Given the description of an element on the screen output the (x, y) to click on. 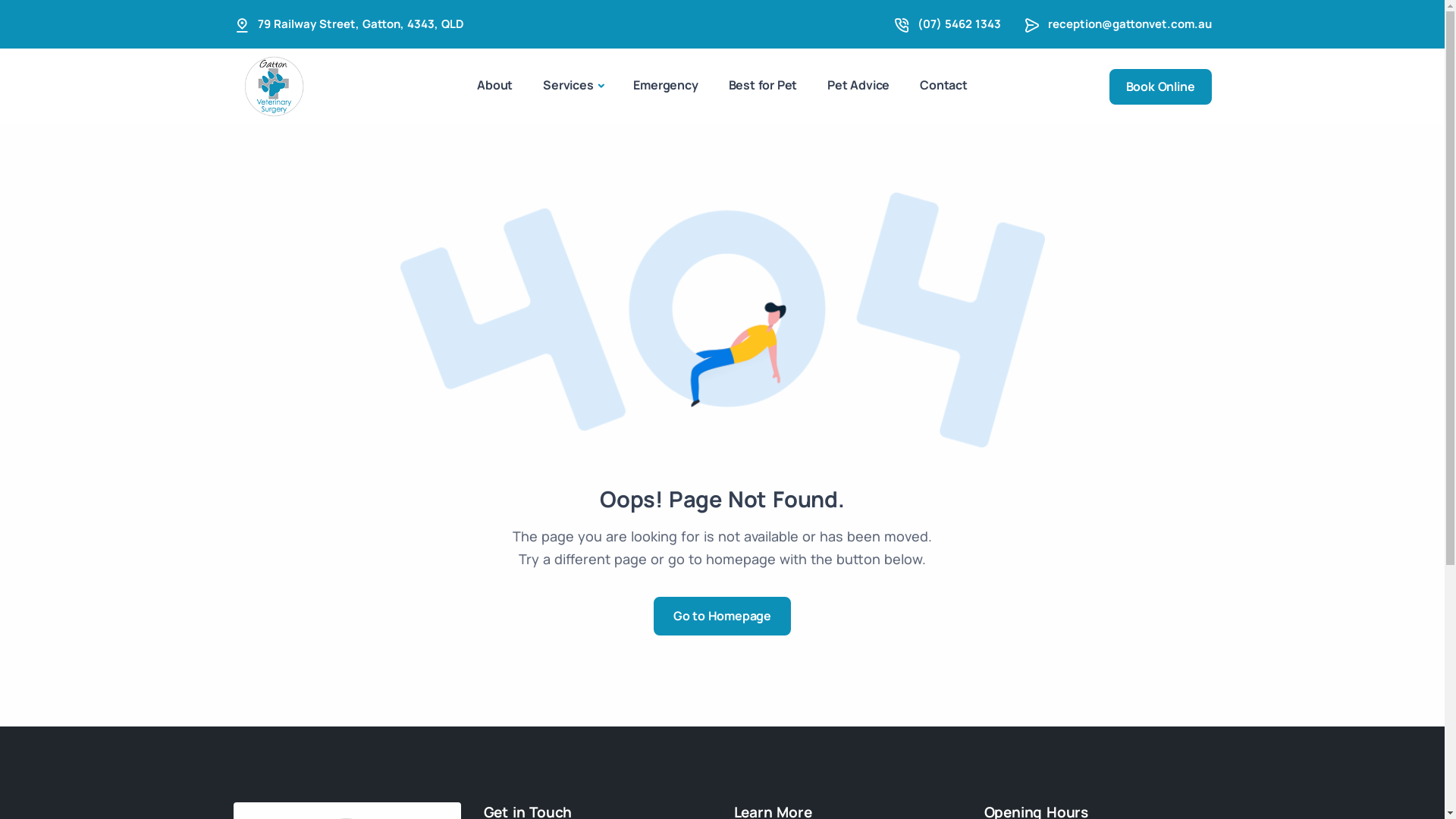
Emergency Element type: text (665, 84)
Services Element type: text (572, 86)
Pet Advice Element type: text (858, 84)
About Element type: text (494, 84)
Best for Pet Element type: text (762, 84)
79 Railway Street, Gatton, 4343, QLD Element type: text (360, 23)
Contact Element type: text (943, 84)
reception@gattonvet.com.au Element type: text (1129, 23)
Book Online Element type: text (1160, 86)
Go to Homepage Element type: text (721, 615)
(07) 5462 1343 Element type: text (959, 23)
